Given the description of an element on the screen output the (x, y) to click on. 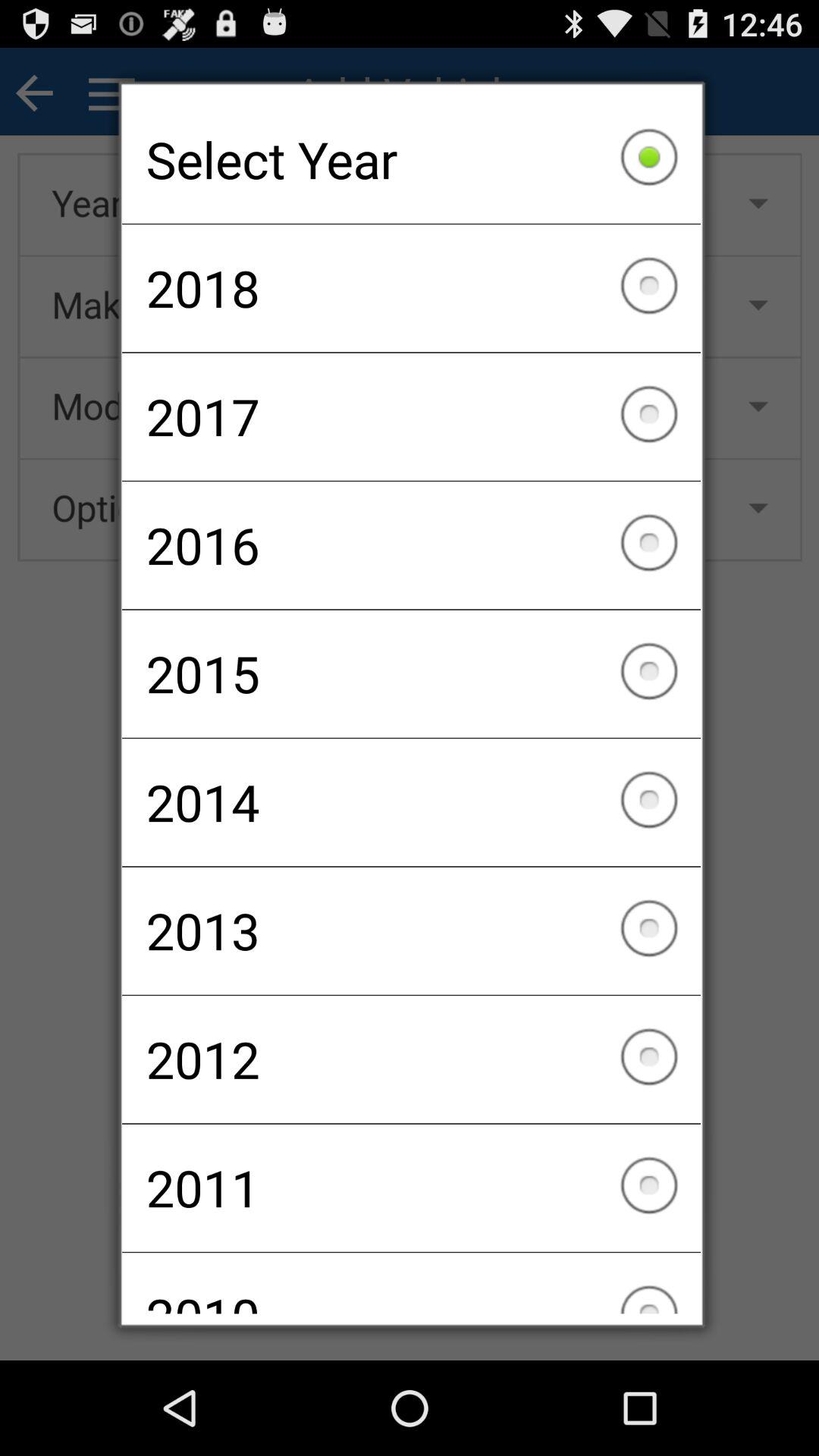
flip to the 2012 (411, 1059)
